Given the description of an element on the screen output the (x, y) to click on. 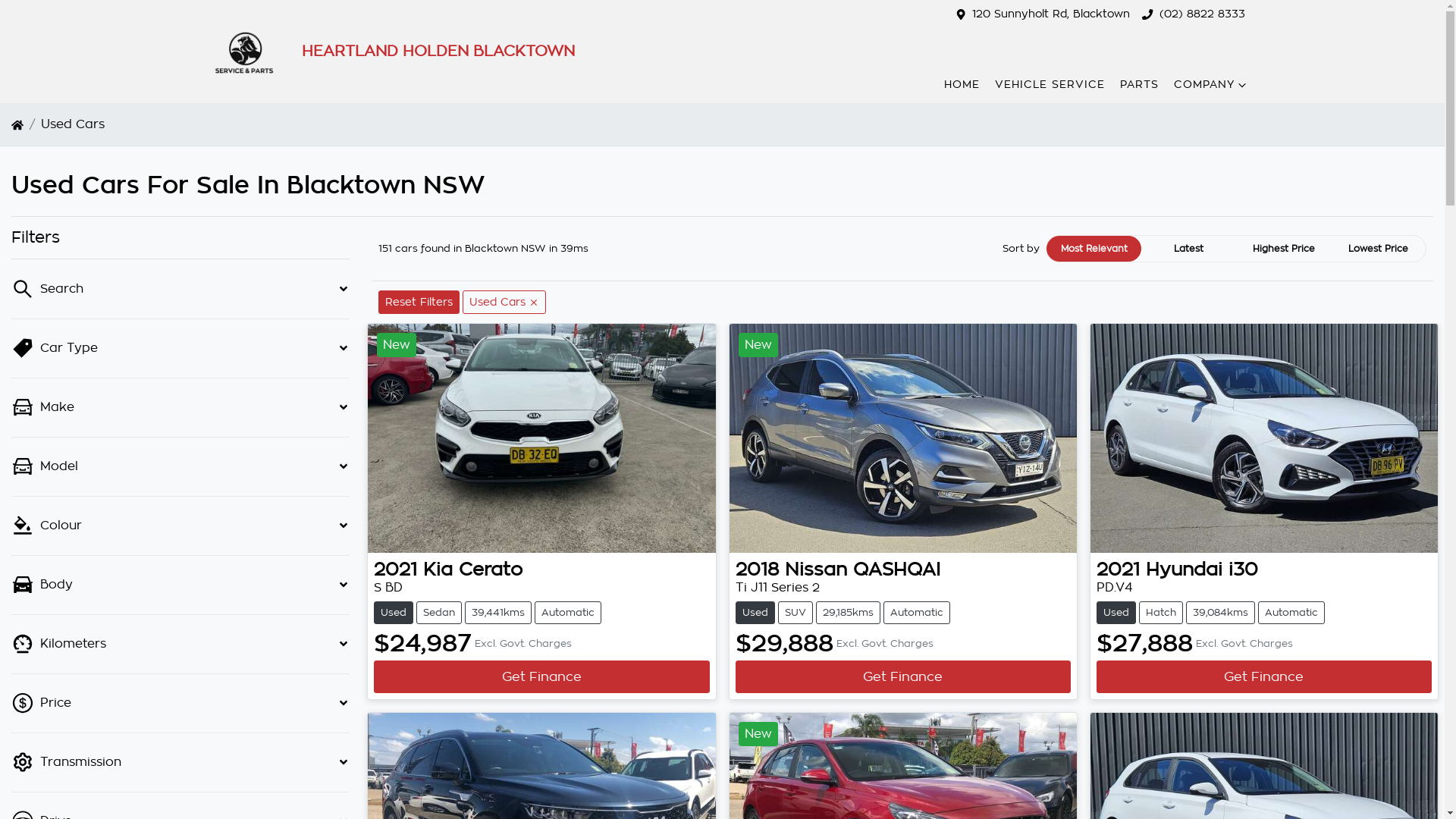
Make Element type: text (180, 407)
120 Sunnyholt Rd, Blacktown Element type: text (1050, 13)
Get Finance Element type: text (541, 676)
New Element type: text (541, 437)
PARTS Element type: text (1138, 84)
(02) 8822 8333 Element type: text (1201, 13)
Body Element type: text (180, 585)
Transmission Element type: text (180, 762)
HOME Element type: text (961, 84)
Get Finance Element type: text (902, 676)
New Element type: text (902, 437)
Reset Filters Element type: text (418, 301)
COMPANY Element type: text (1211, 84)
HEARTLAND HOLDEN BLACKTOWN Element type: text (381, 51)
Get Finance Element type: text (1263, 676)
Kilometers Element type: text (180, 644)
Search Element type: text (180, 289)
VEHICLE SERVICE Element type: text (1049, 84)
Model Element type: text (180, 466)
Price Element type: text (180, 703)
Colour Element type: text (180, 525)
Car Type Element type: text (180, 348)
